Given the description of an element on the screen output the (x, y) to click on. 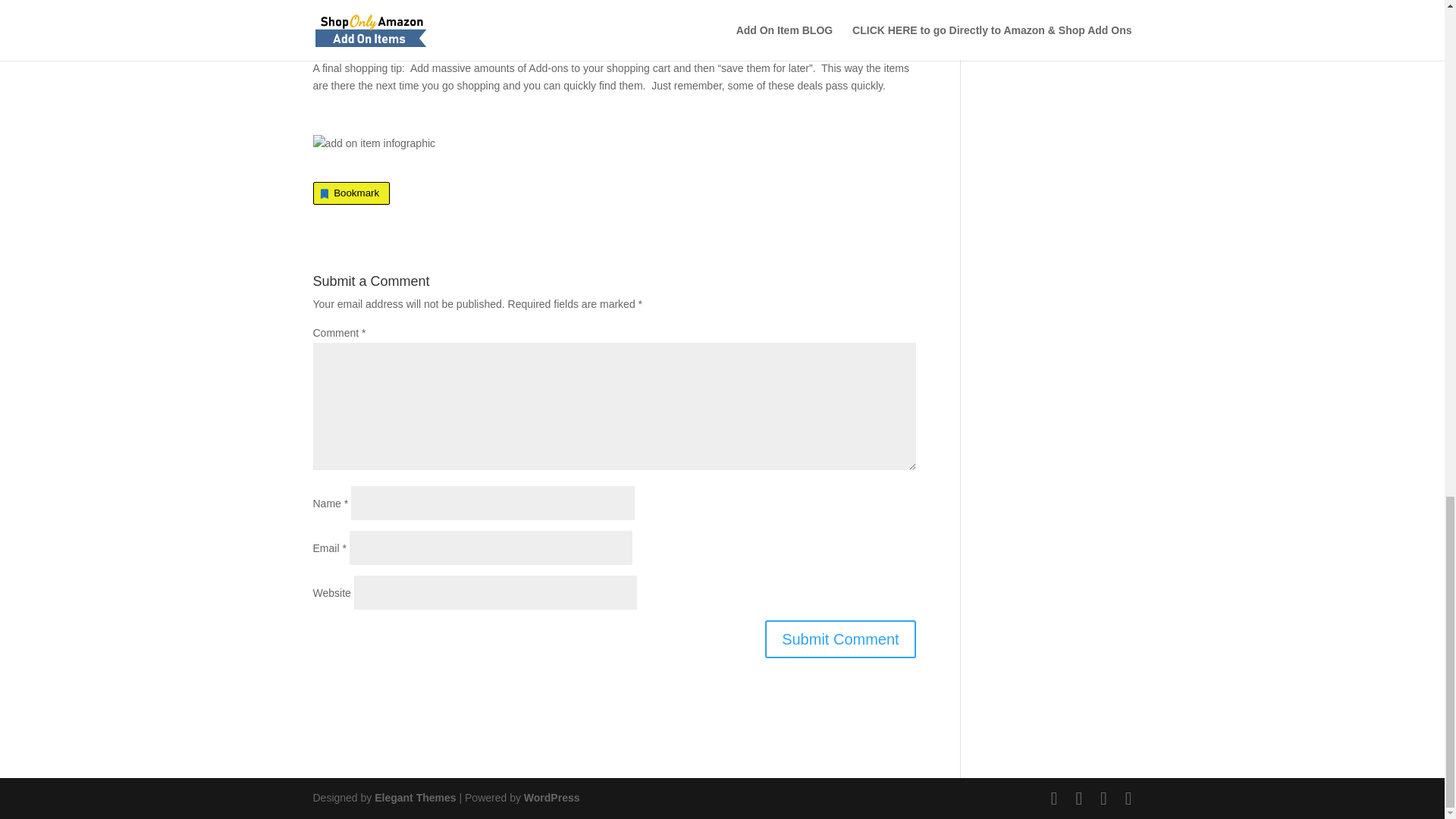
WordPress (551, 797)
Submit Comment (840, 638)
Bookmark (351, 192)
Premium WordPress Themes (414, 797)
Submit Comment (840, 638)
add on item infographic (374, 144)
Elegant Themes (414, 797)
